Given the description of an element on the screen output the (x, y) to click on. 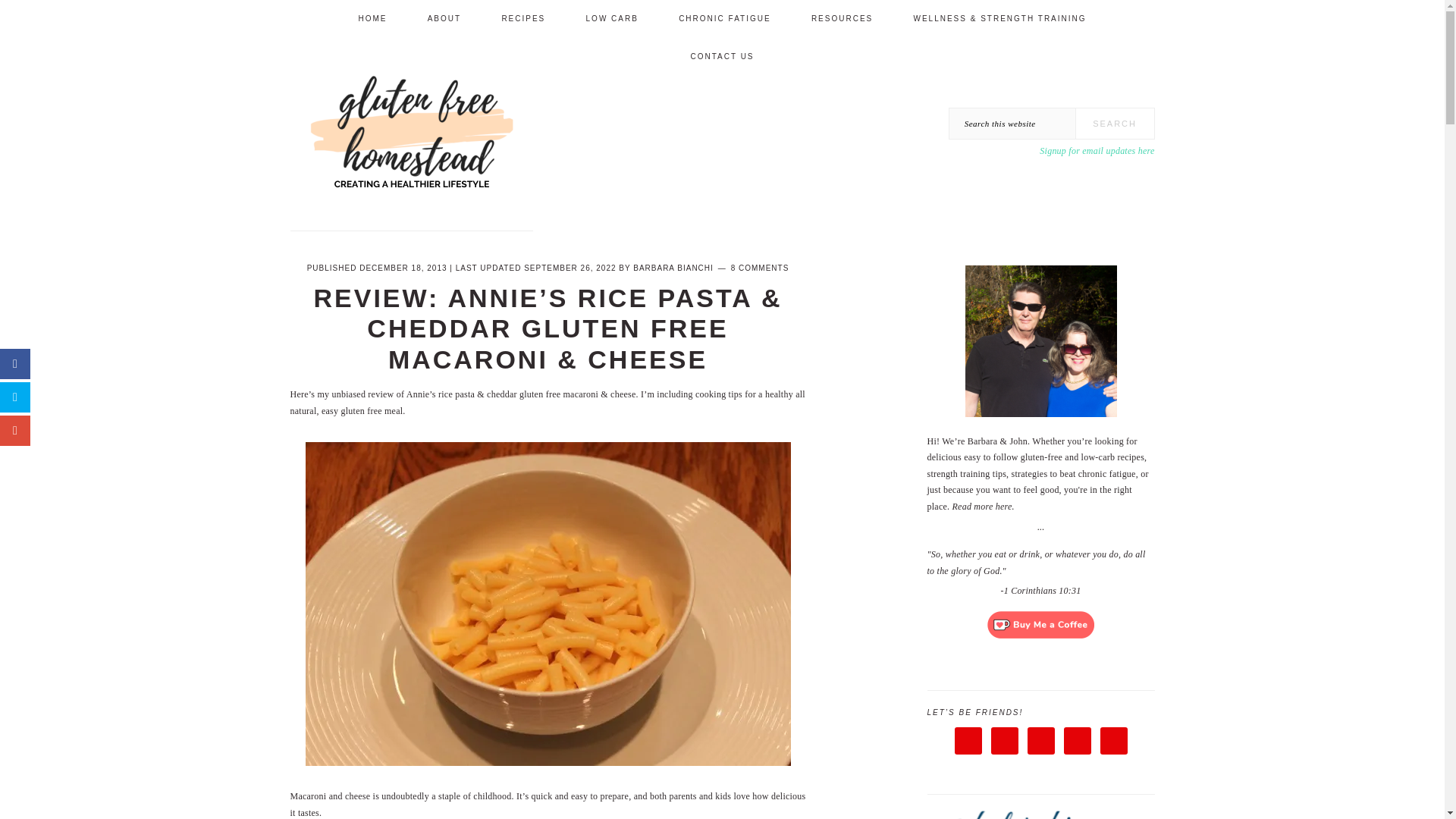
Search (1114, 123)
CHRONIC FATIGUE (724, 18)
RECIPES (522, 18)
HOME (372, 18)
Search (1114, 123)
RESOURCES (841, 18)
ABOUT (444, 18)
LOW CARB (612, 18)
